Given the description of an element on the screen output the (x, y) to click on. 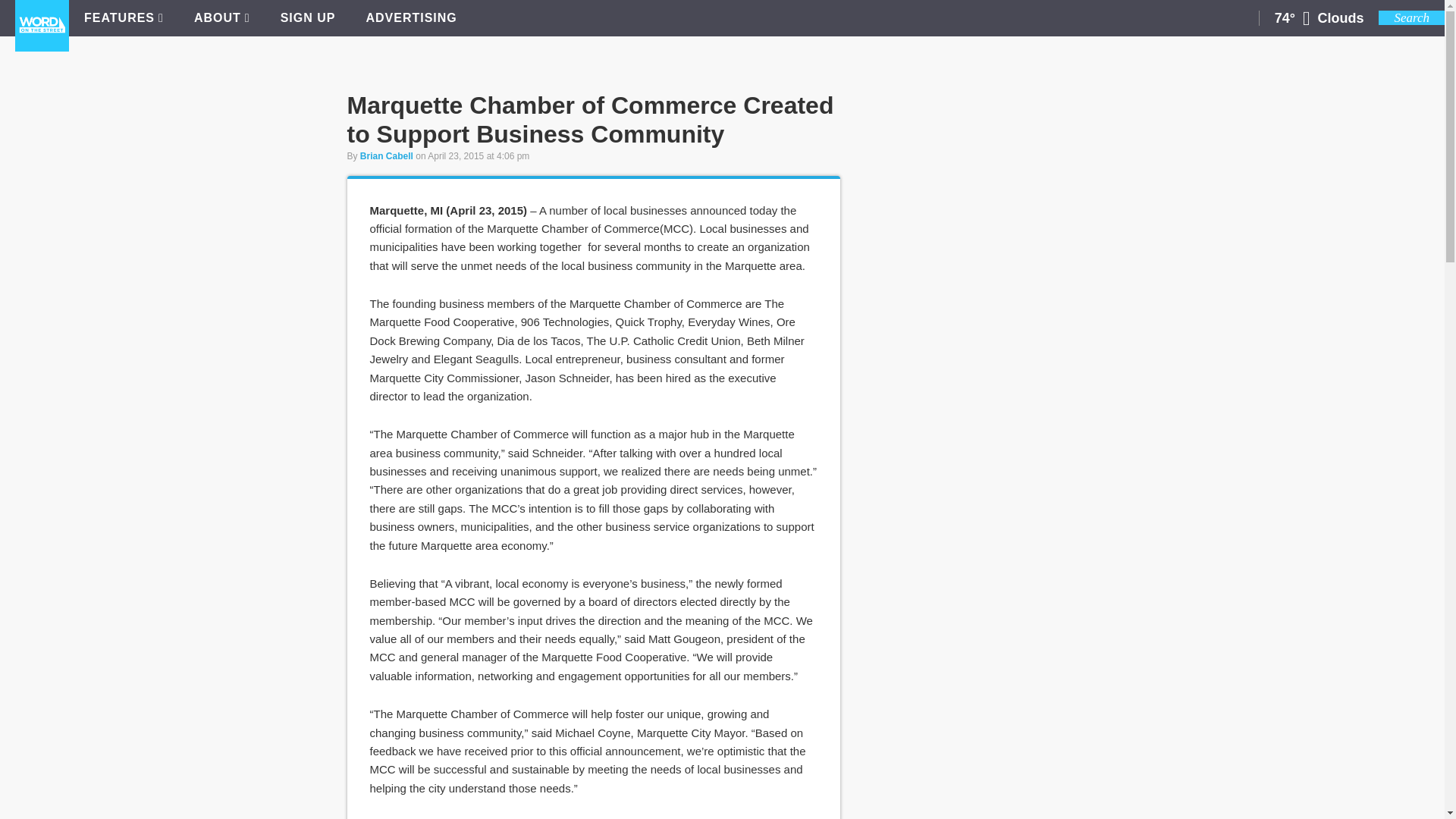
FEATURES (123, 18)
Brian Cabell (386, 155)
ADVERTISING (410, 18)
ABOUT (221, 18)
SIGN UP (307, 18)
